Given the description of an element on the screen output the (x, y) to click on. 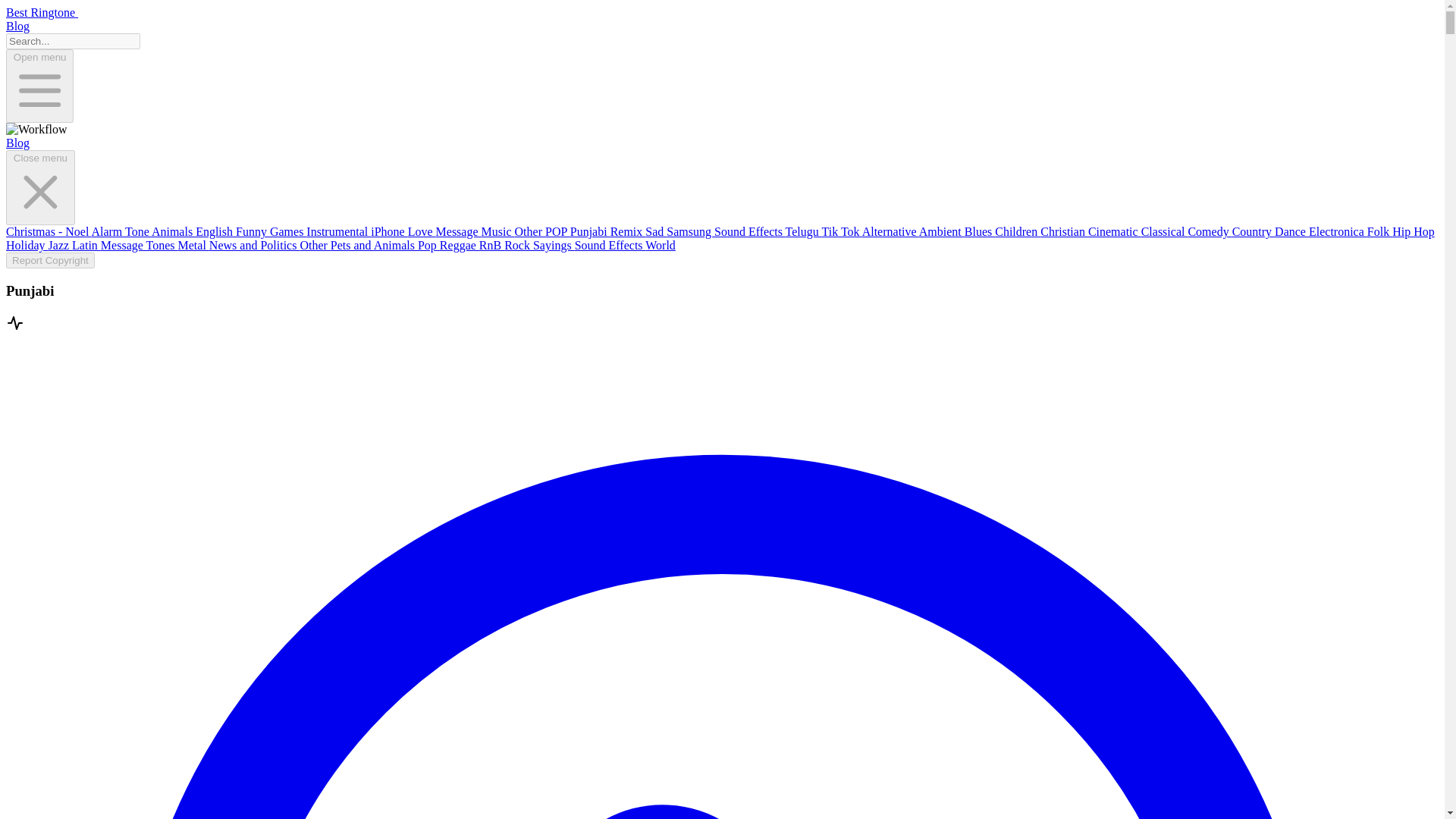
Message (458, 231)
Electronica (1337, 231)
Jazz (60, 245)
Comedy (1209, 231)
Folk (1379, 231)
Blues (978, 231)
Country (1253, 231)
Telugu (804, 231)
Alarm Tone (120, 231)
Ambient (940, 231)
Animals (173, 231)
Sad (655, 231)
Other (529, 231)
Dance (1291, 231)
Instrumental (338, 231)
